Given the description of an element on the screen output the (x, y) to click on. 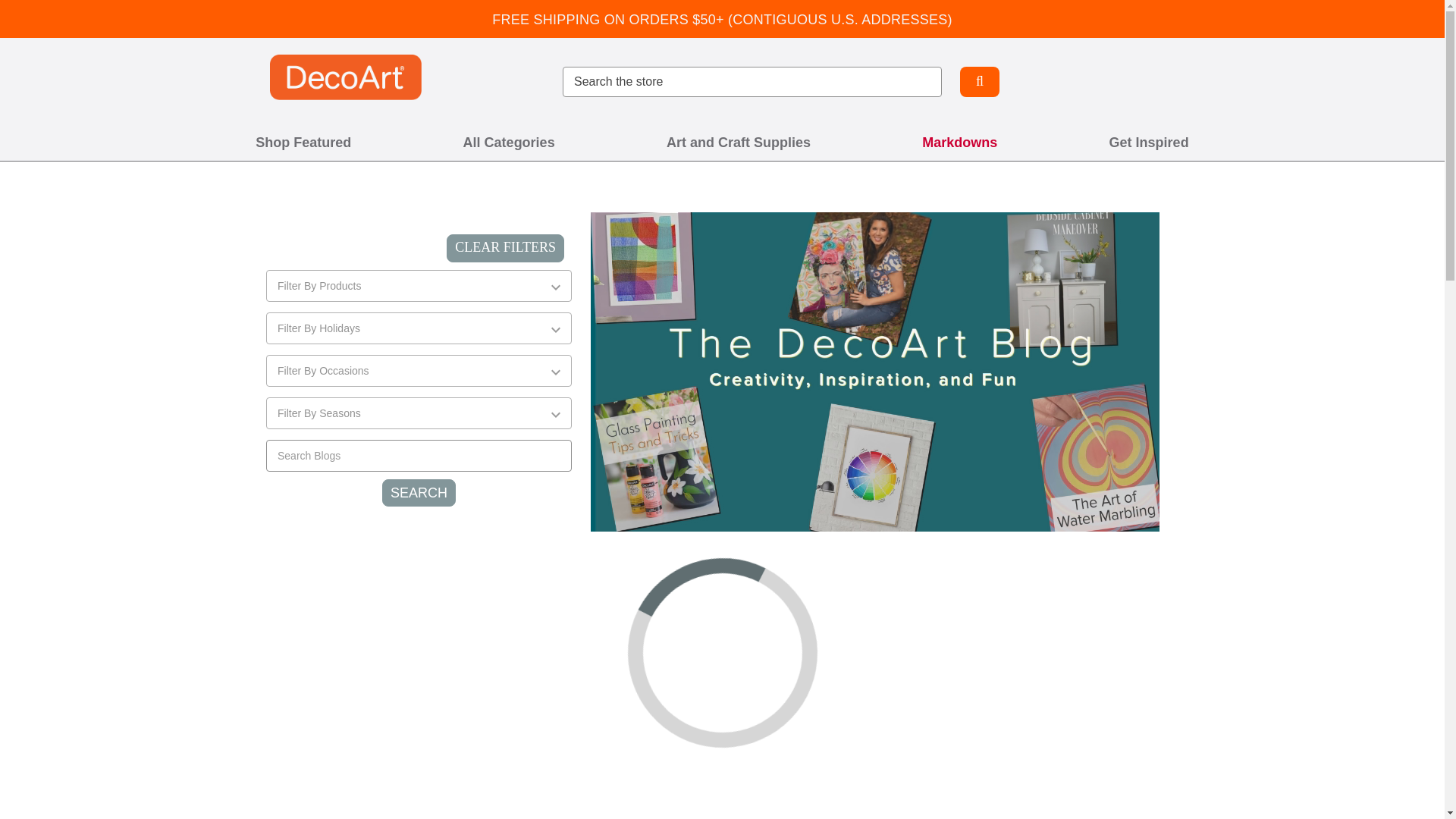
DecoArt Acrylic Paint and Art Supplies (345, 76)
Shop Featured (302, 143)
Shop Featured (302, 142)
